Given the description of an element on the screen output the (x, y) to click on. 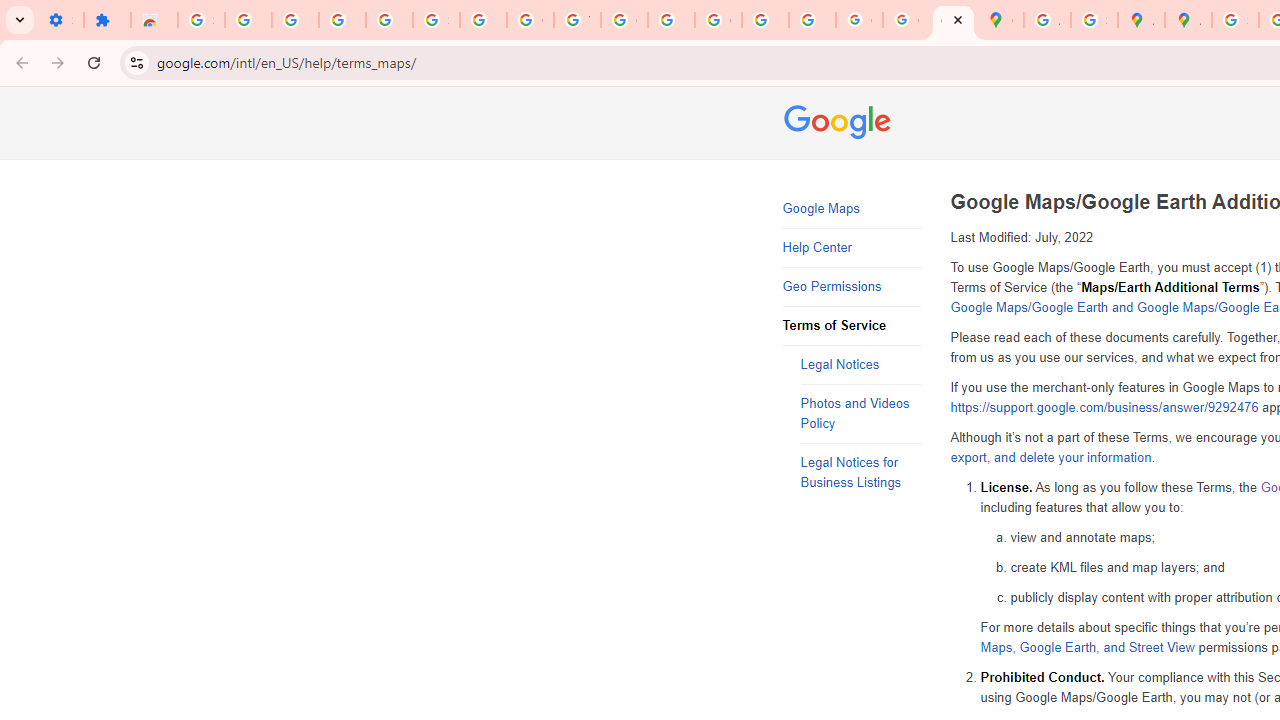
Photos and Videos Policy (860, 414)
https://scholar.google.com/ (671, 20)
Legal Notices for Business Listings (860, 473)
Sign in - Google Accounts (436, 20)
Reviews: Helix Fruit Jump Arcade Game (153, 20)
